Given the description of an element on the screen output the (x, y) to click on. 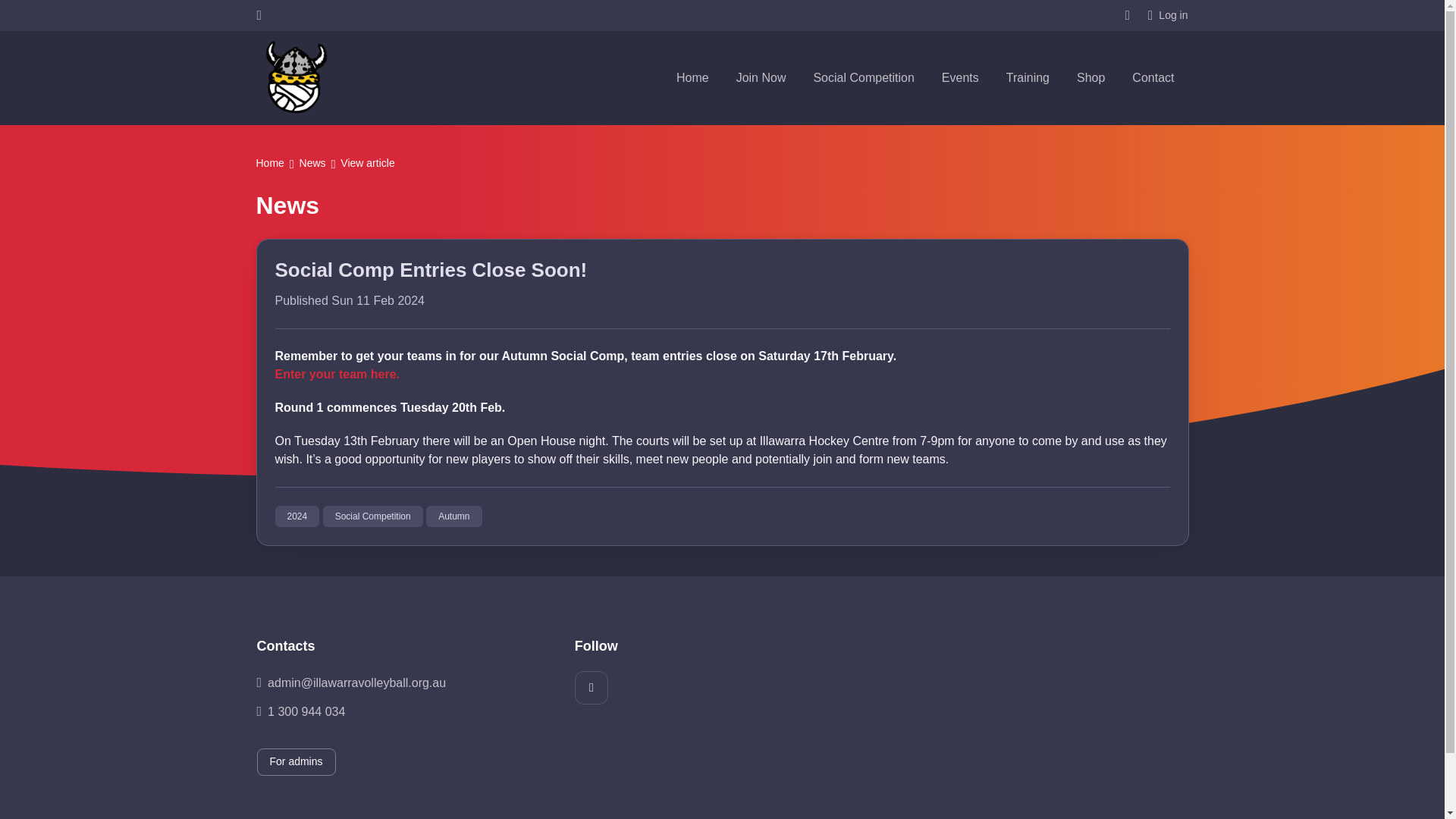
Join Now (760, 77)
For admins (295, 762)
1 300 944 034 (403, 711)
Log in (1168, 15)
News (312, 164)
Events (960, 77)
Training (1027, 77)
Autumn (453, 516)
Social Competition (863, 77)
2024 (296, 516)
Home (692, 77)
Contact (1153, 77)
Social Competition (373, 516)
Shop (1090, 77)
Enter your team here. (336, 373)
